Given the description of an element on the screen output the (x, y) to click on. 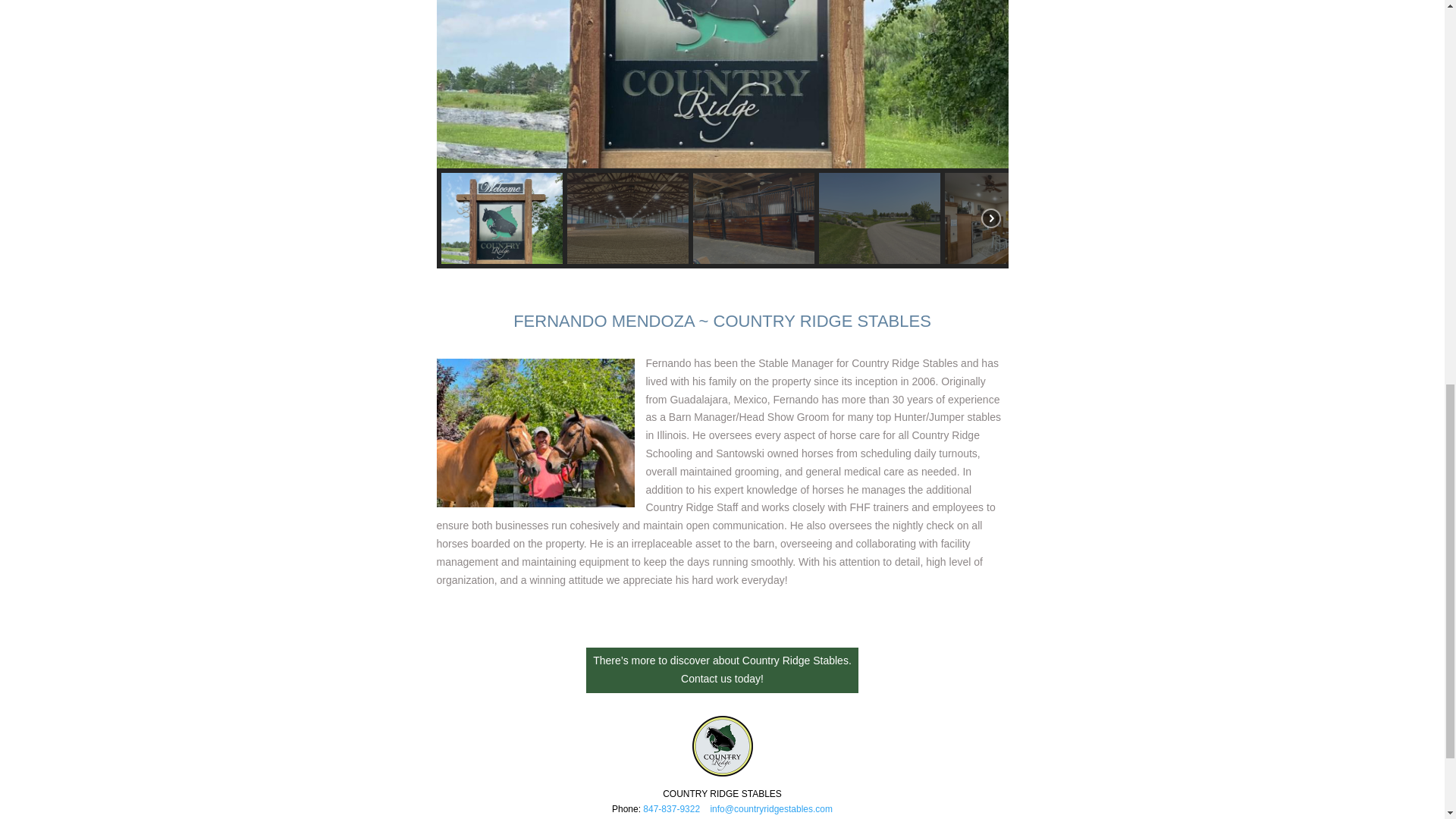
847-837-9322 (671, 808)
